Given the description of an element on the screen output the (x, y) to click on. 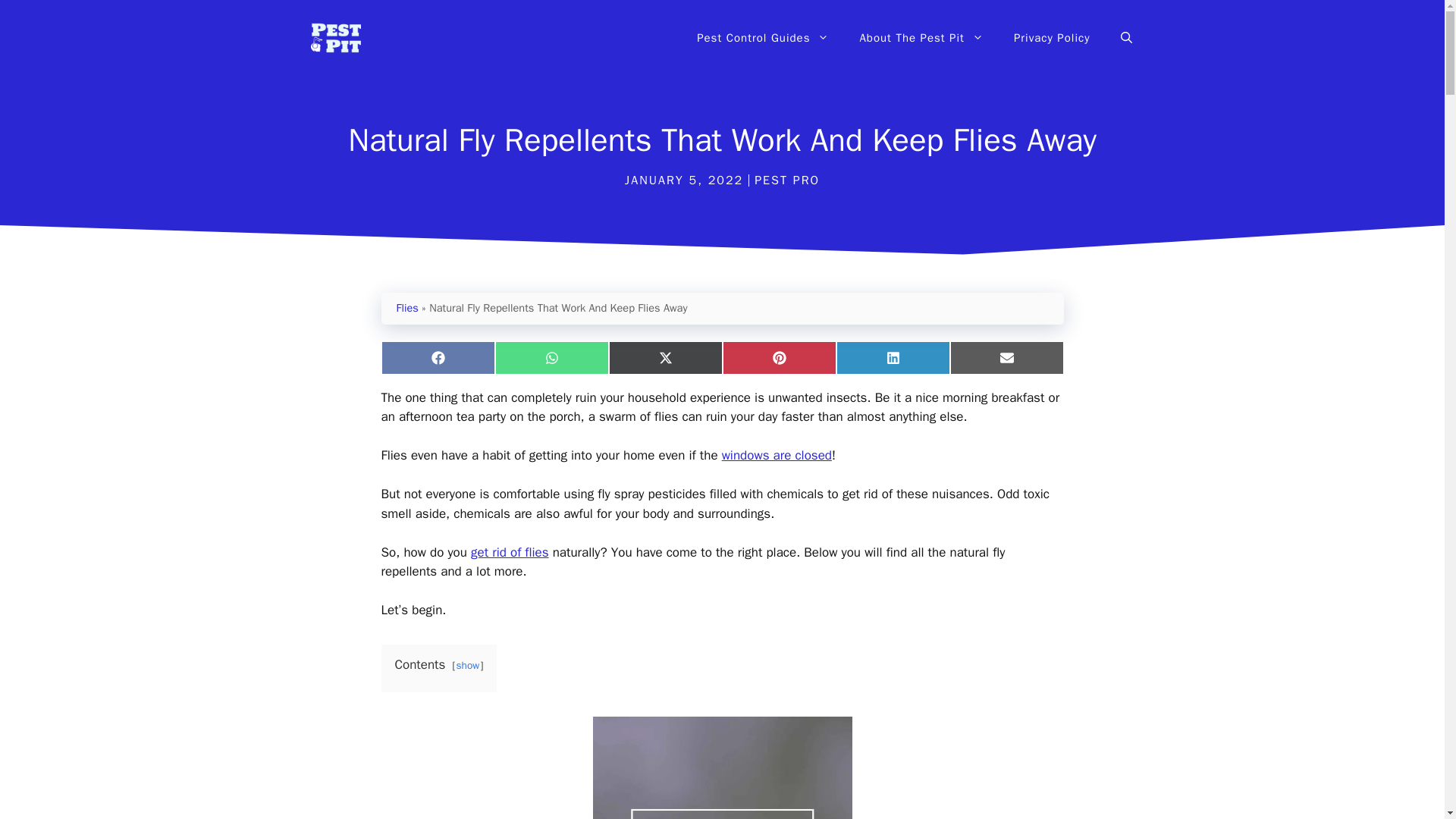
Pest Control Guides (762, 37)
Share on Pinterest (778, 357)
Share on Facebook (437, 357)
PEST PRO (786, 180)
Share on WhatsApp (551, 357)
windows are closed (776, 455)
Privacy Policy (1051, 37)
Share on Email (1005, 357)
About The Pest Pit (920, 37)
Natural Fly Repellents That Work And Keep Flies Away 1 (721, 767)
